Given the description of an element on the screen output the (x, y) to click on. 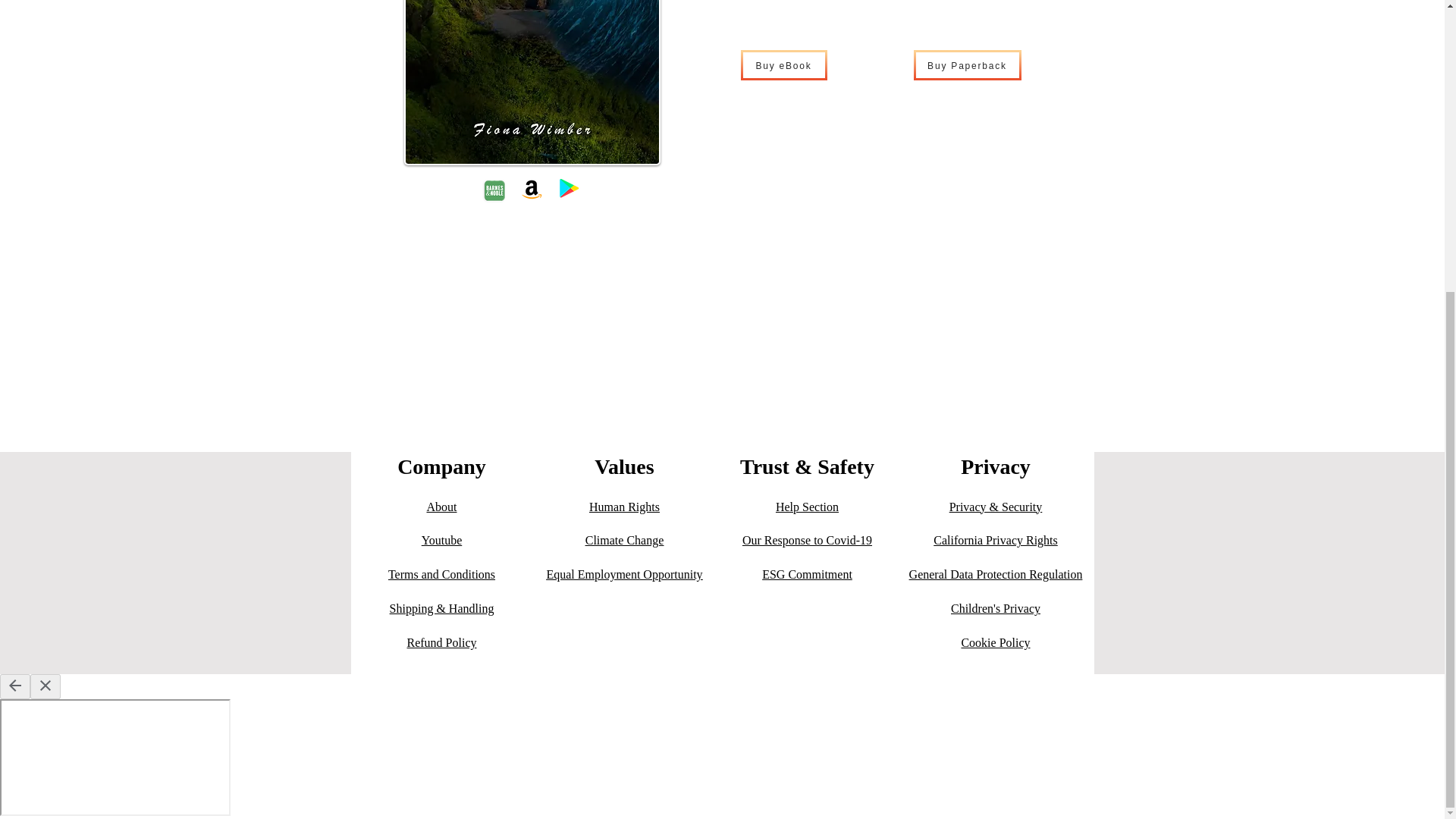
Buy eBook (783, 64)
Our Response to Covid-19 (807, 540)
Children's Privacy (995, 608)
Human Rights (624, 506)
General Data Protection Regulation (995, 574)
Climate Change (624, 540)
Terms and Conditions (441, 574)
About (441, 506)
Equal Employment Opportunity (623, 574)
ESG Commitment (806, 574)
